Given the description of an element on the screen output the (x, y) to click on. 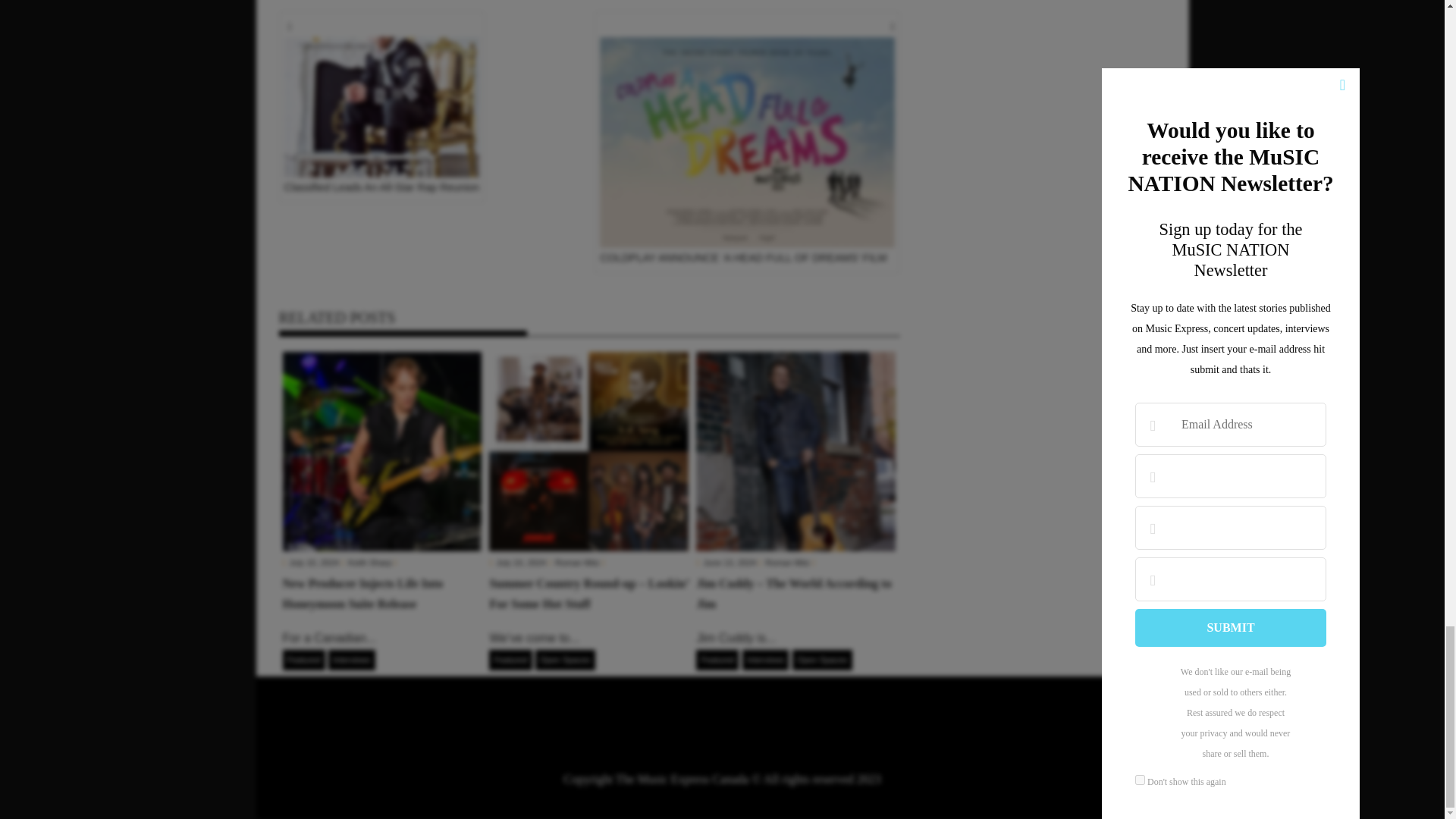
Roman Mitz (576, 562)
Roman Mitz (787, 562)
Keith Sharp (369, 562)
New Producer Injects Life Into Honeymoon Suite Release (381, 451)
